Given the description of an element on the screen output the (x, y) to click on. 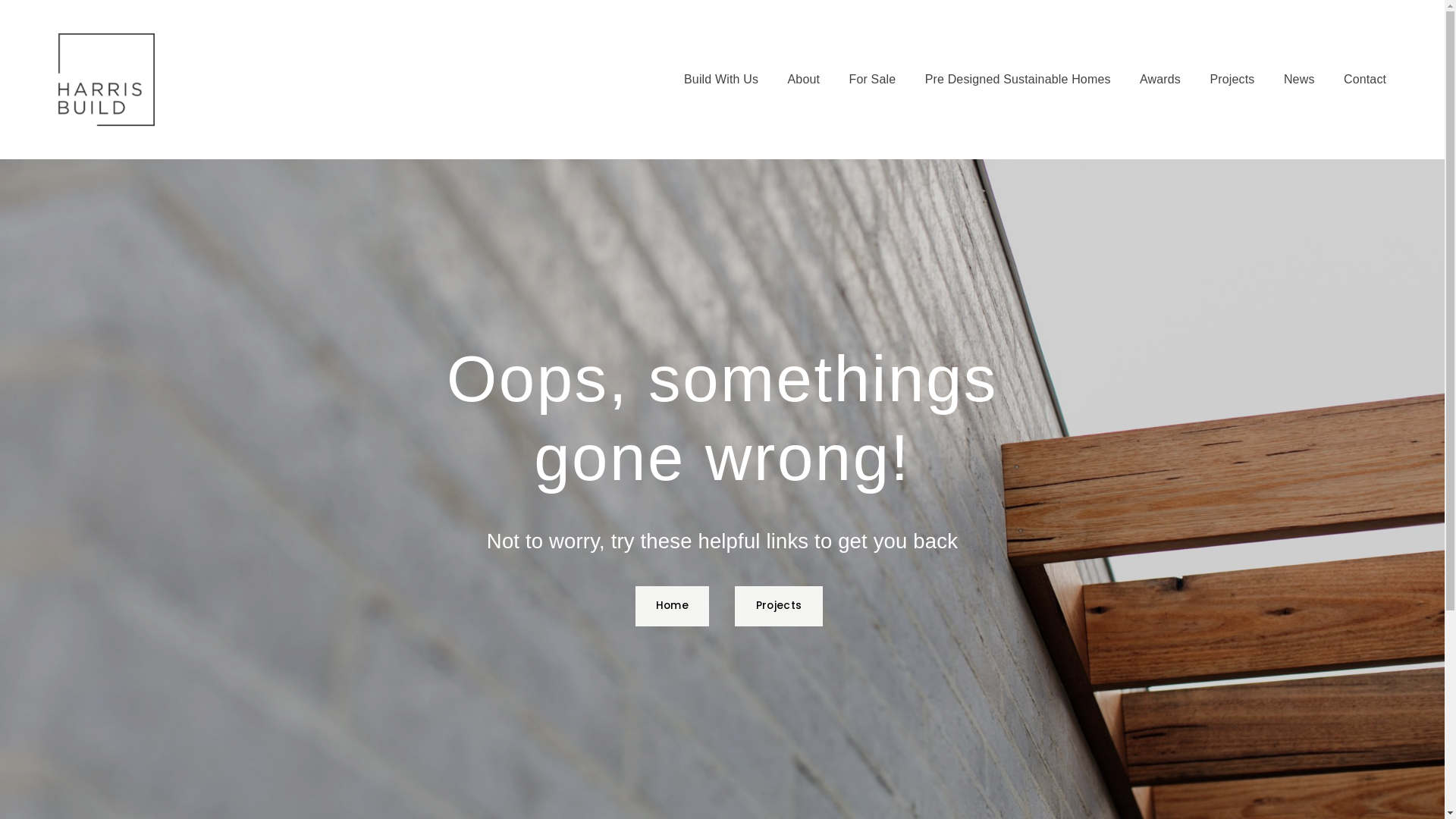
For Sale Element type: text (872, 79)
Build With Us Element type: text (721, 79)
Contact Element type: text (1364, 79)
Projects Element type: text (778, 606)
Awards Element type: text (1159, 79)
News Element type: text (1298, 79)
Home Element type: text (672, 606)
Pre Designed Sustainable Homes Element type: text (1017, 79)
About Element type: text (803, 79)
Projects Element type: text (1231, 79)
